Given the description of an element on the screen output the (x, y) to click on. 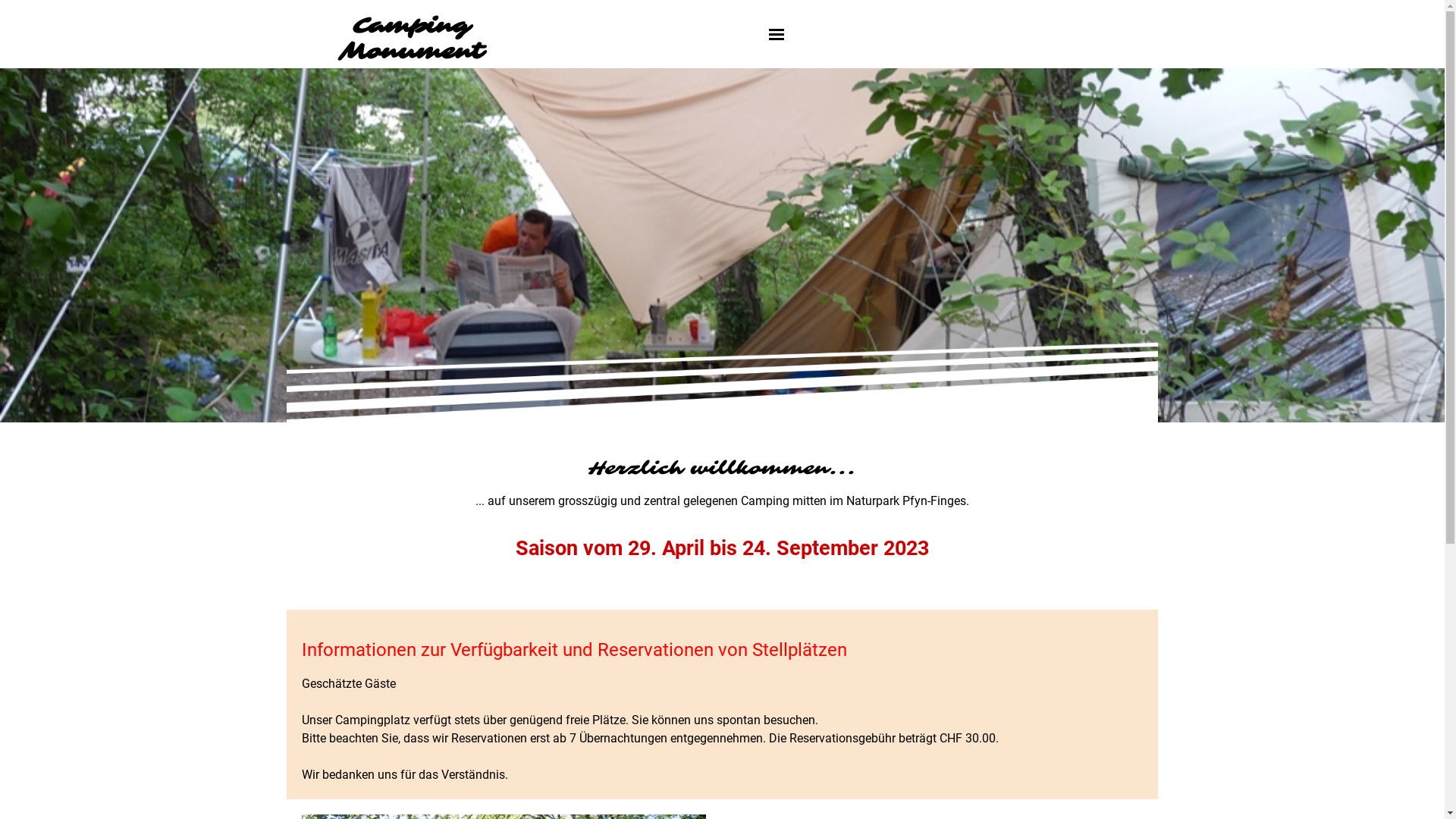
Camping Element type: text (410, 25)
Monument Element type: text (410, 51)
